Given the description of an element on the screen output the (x, y) to click on. 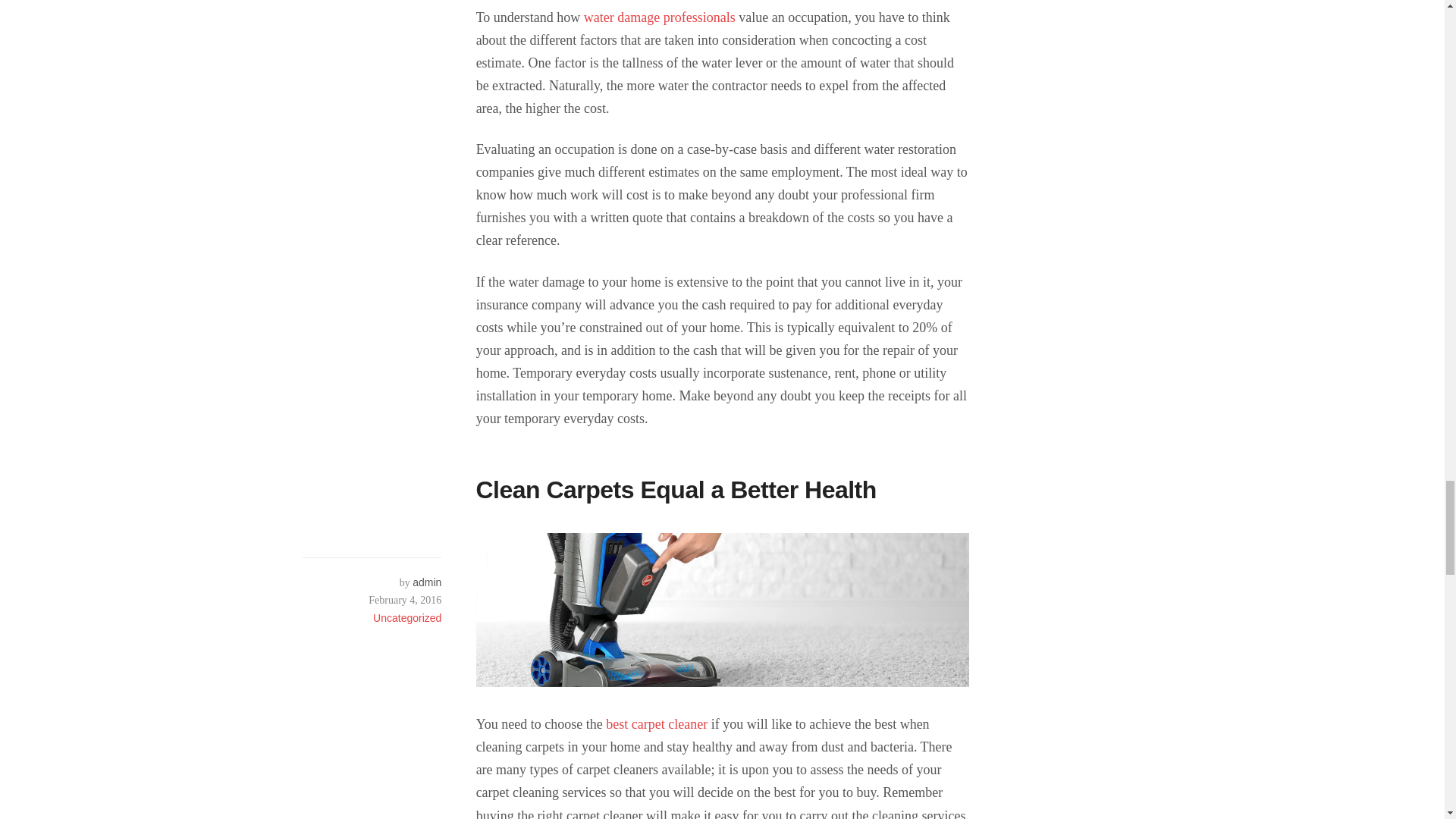
water damage professionals (659, 17)
Clean Carpets Equal a Better Health (676, 489)
Posts by admin (426, 582)
best carpet cleaner (656, 724)
Uncategorized (406, 617)
February 4, 2016 (371, 600)
admin (426, 582)
